Given the description of an element on the screen output the (x, y) to click on. 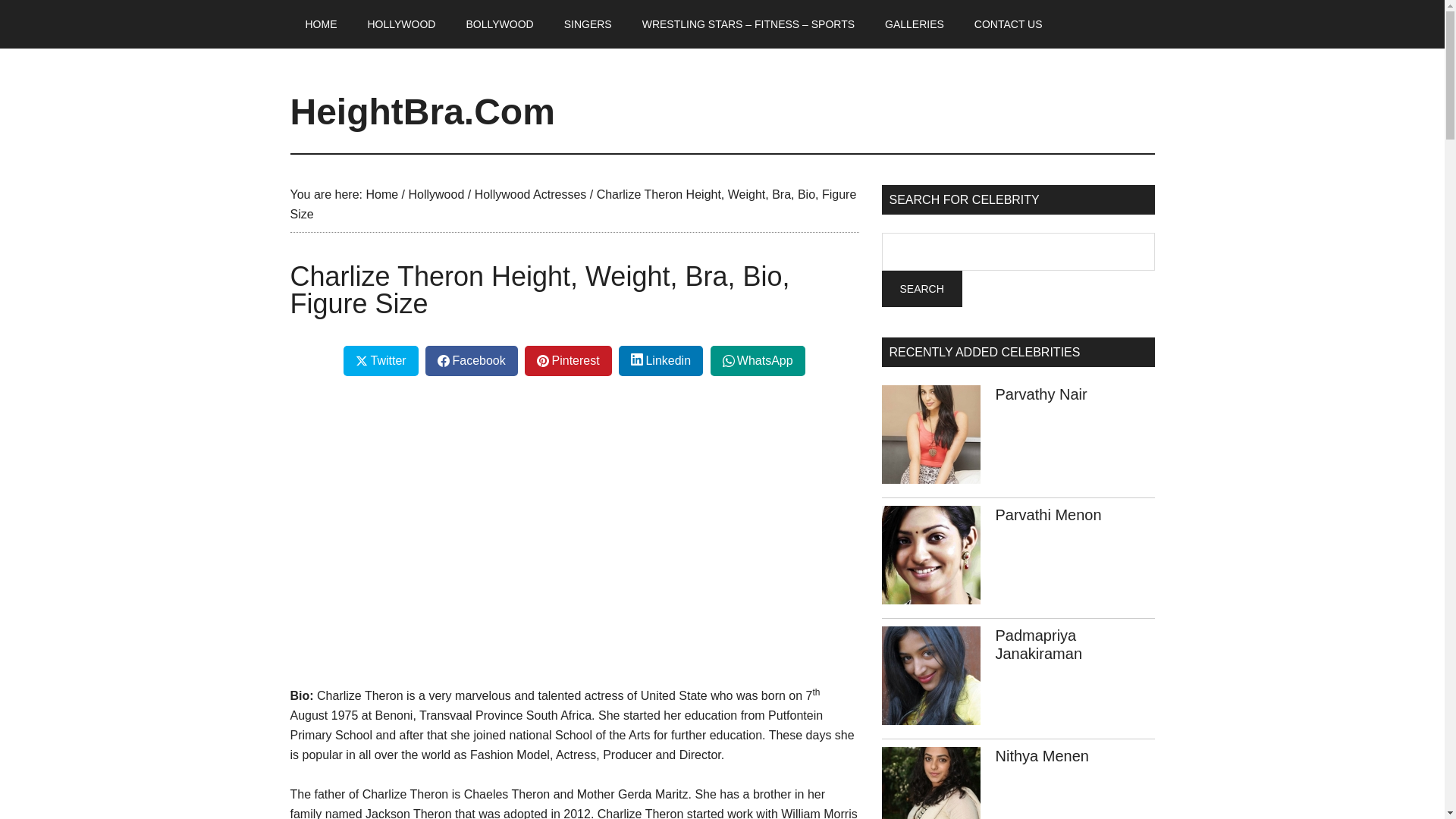
GALLERIES (914, 24)
Parvathi Menon (1047, 514)
Parvathi Menon Height, Weight, Bra, Bio, Figure Size (929, 558)
Linkedin (660, 360)
Parvathy Nair (1040, 393)
WhatsApp (757, 360)
SINGERS (587, 24)
Padmapriya Janakiraman Height, Weight, Bra, Bio, Figure Size (929, 678)
Hollywood (435, 194)
HOLLYWOOD (400, 24)
Twitter (380, 360)
Padmapriya Janakiraman Height, Weight, Bra, Bio, Figure Size (1037, 644)
Nithya Menen Height, Weight, Bra, Bio, Figure Size (1040, 755)
Advertisement (574, 498)
HeightBra.Com (421, 111)
